Given the description of an element on the screen output the (x, y) to click on. 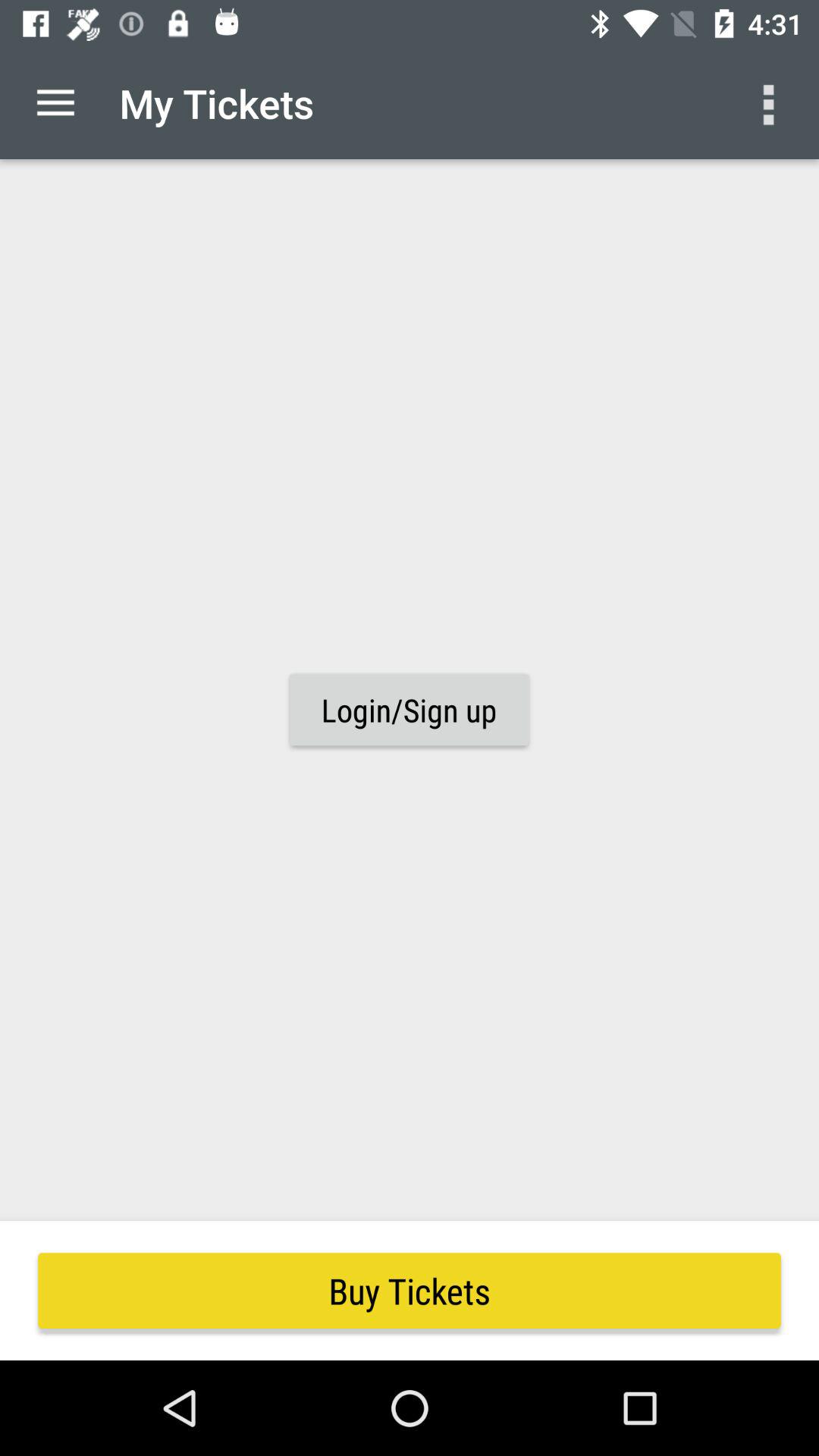
turn on item above the buy tickets (408, 709)
